Given the description of an element on the screen output the (x, y) to click on. 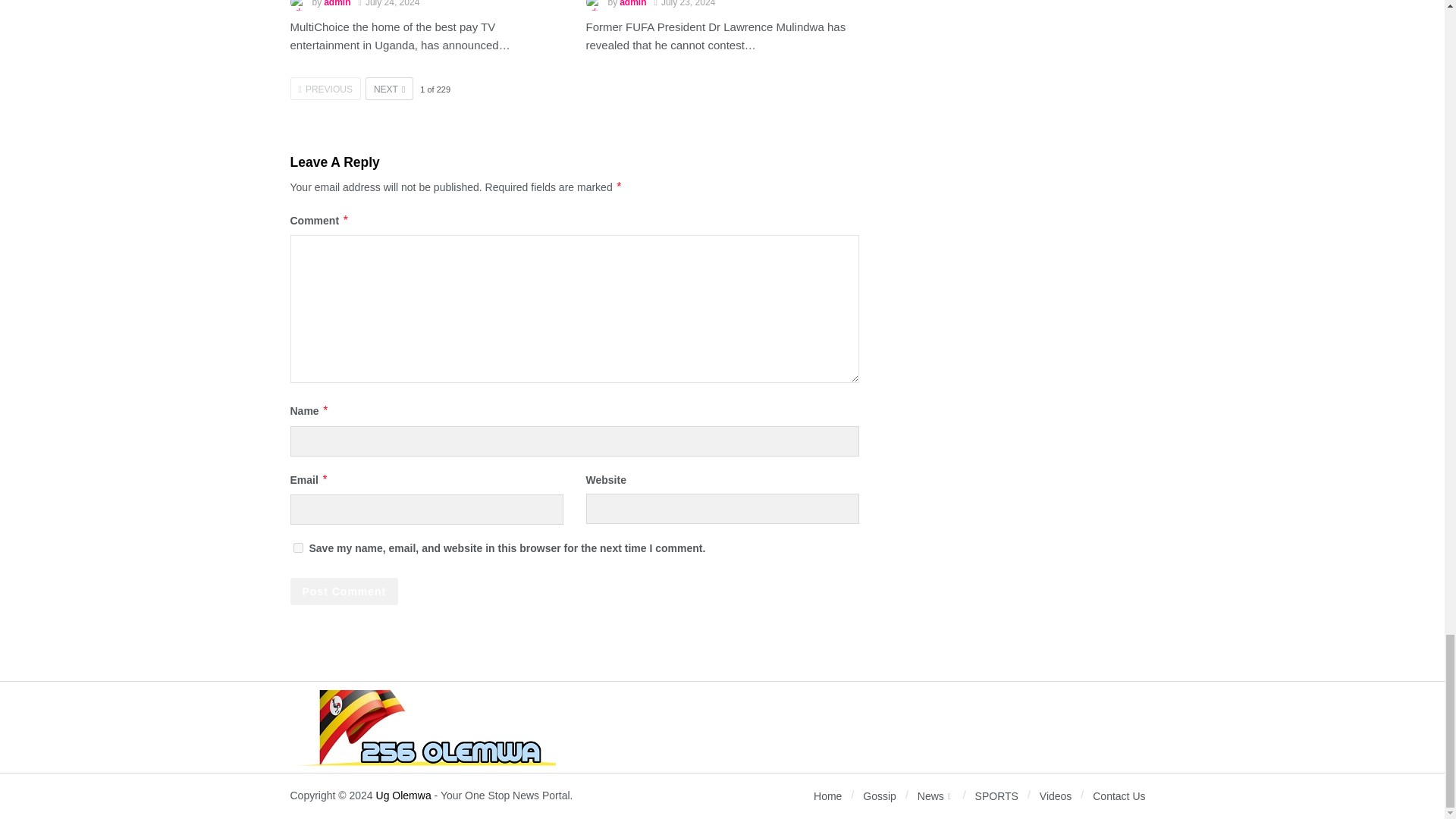
yes (297, 547)
Post Comment (343, 591)
